Given the description of an element on the screen output the (x, y) to click on. 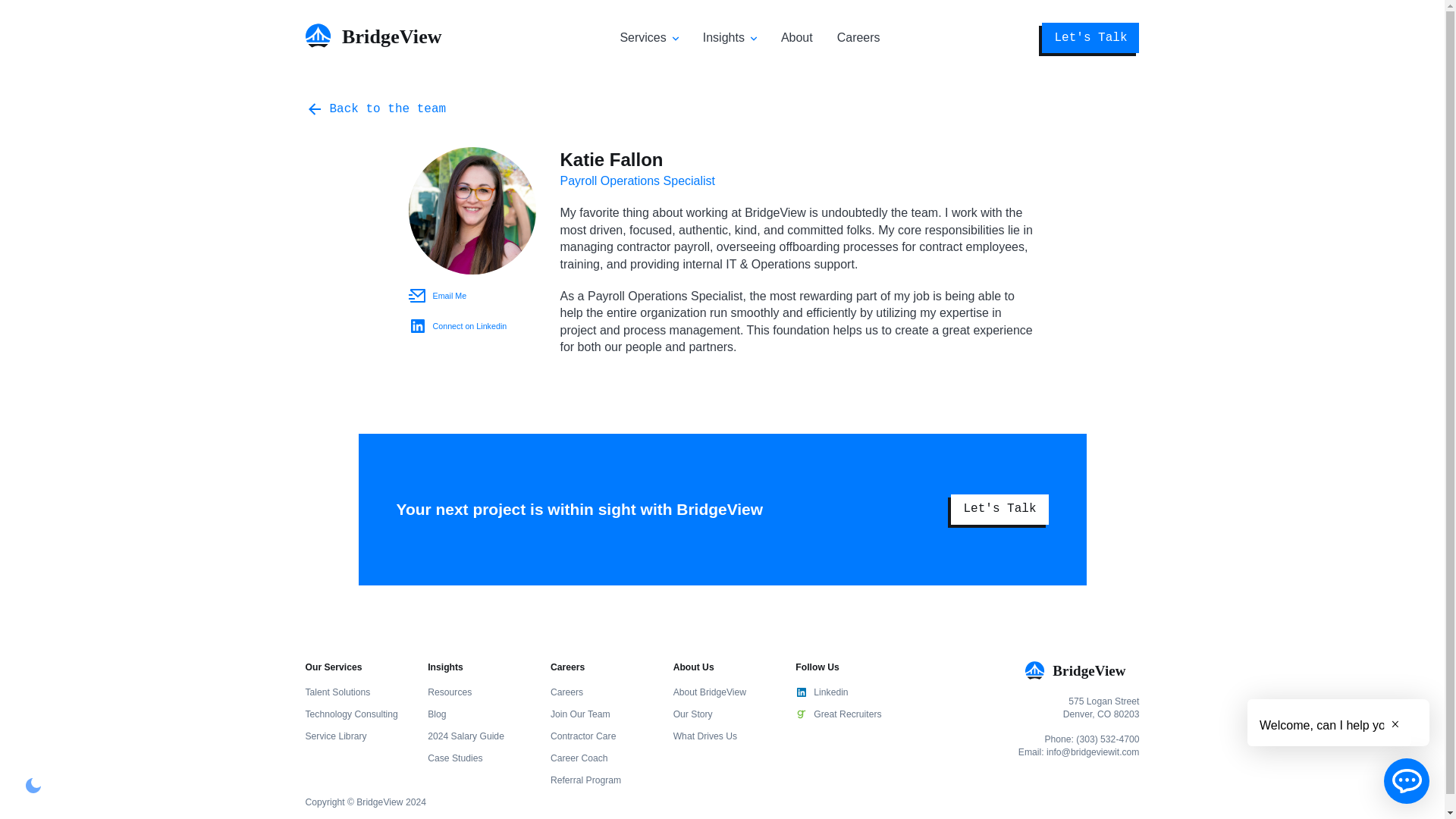
Great Recruiters (843, 714)
Career Coach (579, 757)
Careers (566, 692)
Back to the team (374, 108)
Welcome, can I help you? (1328, 722)
Careers (858, 37)
About BridgeView (708, 692)
Talent Solutions (336, 692)
on (33, 785)
BridgeView (380, 42)
What Drives Us (704, 736)
Case Studies (454, 757)
BridgeView (1081, 669)
Our Story (692, 714)
Let's Talk (999, 509)
